Given the description of an element on the screen output the (x, y) to click on. 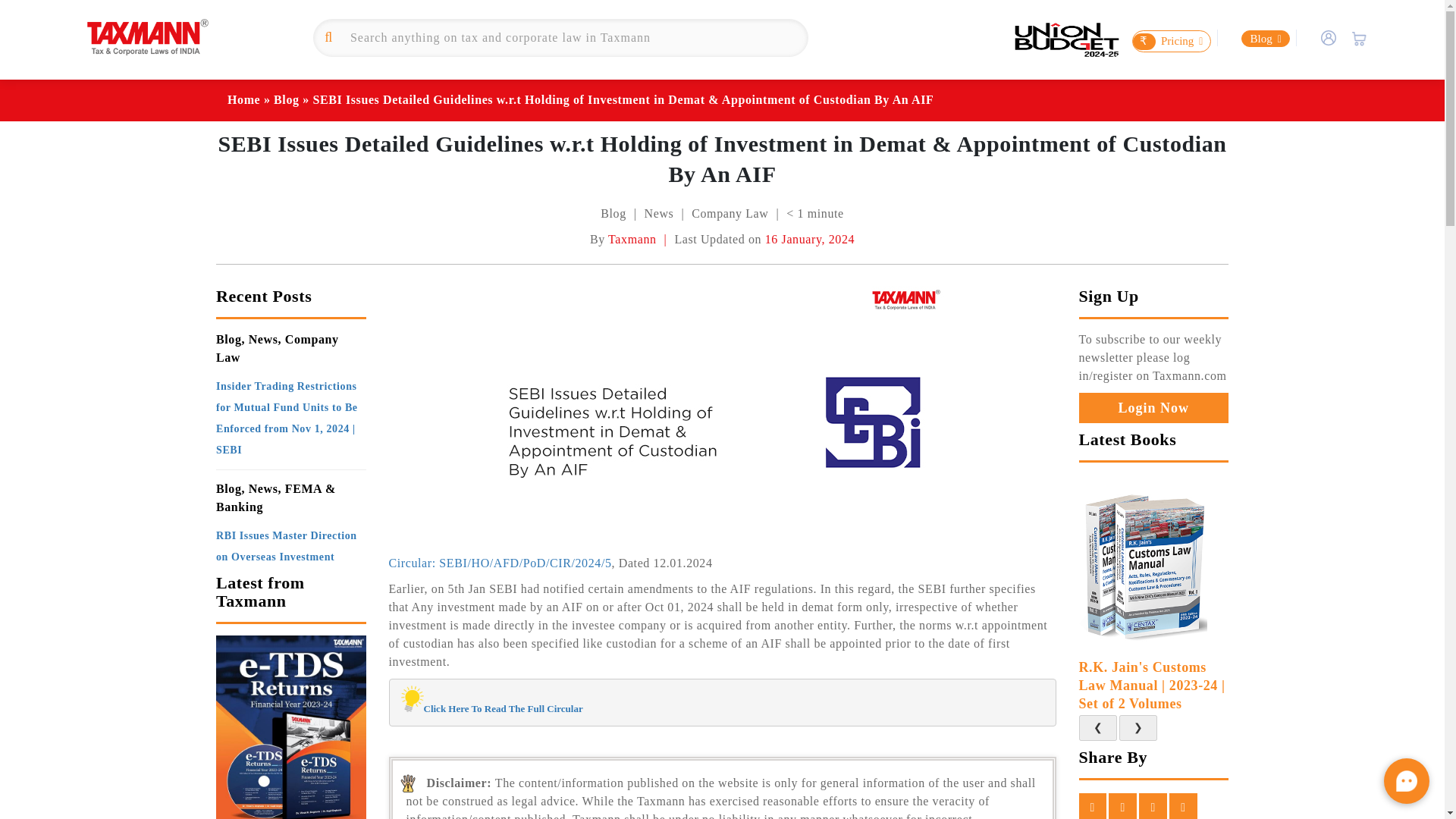
Blog (1264, 38)
